Given the description of an element on the screen output the (x, y) to click on. 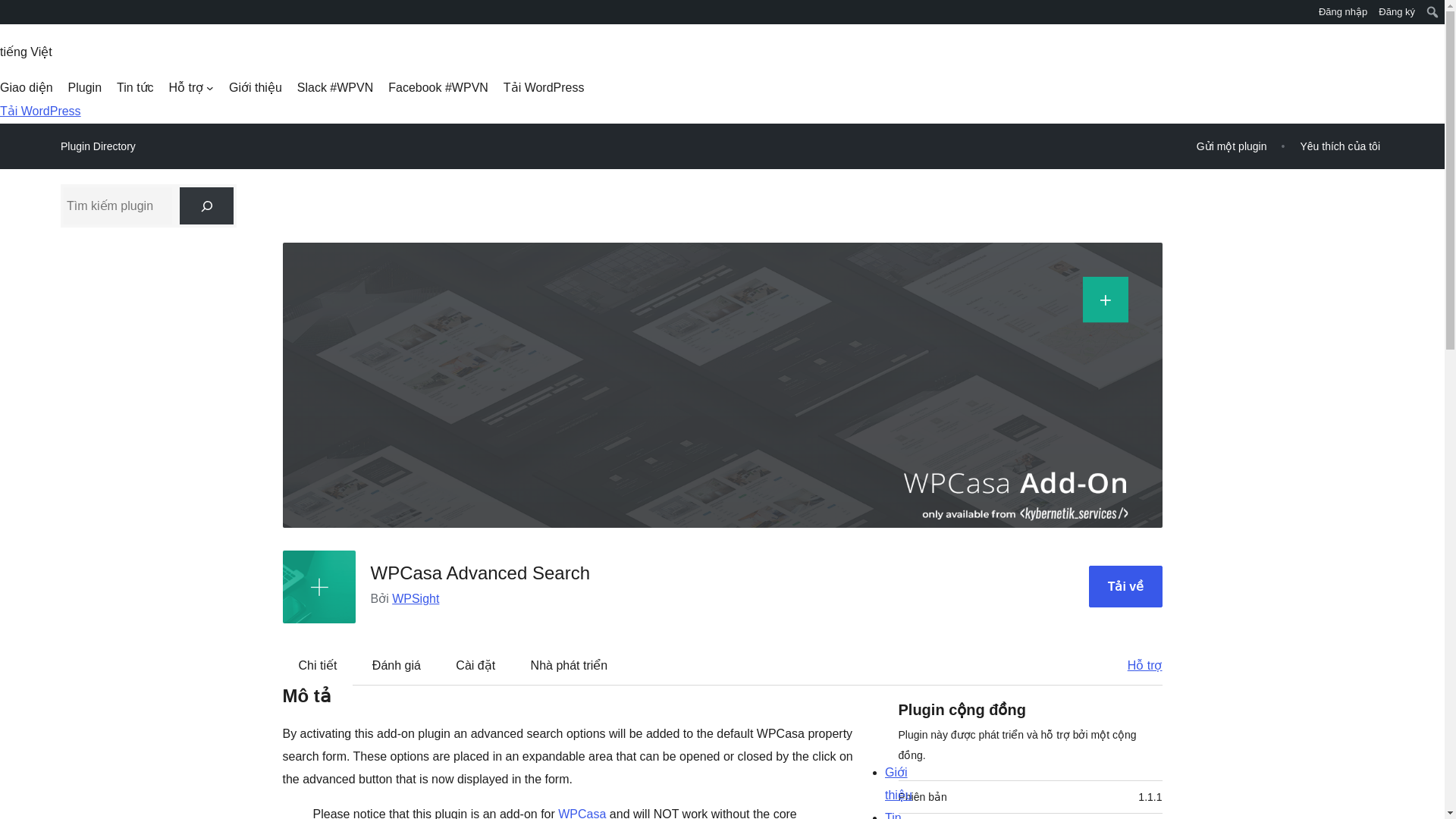
WordPress.org (10, 16)
WPCasa (581, 813)
Plugin Directory (97, 146)
WPSight (415, 598)
Plugin (84, 87)
WordPress.org (10, 10)
